Given the description of an element on the screen output the (x, y) to click on. 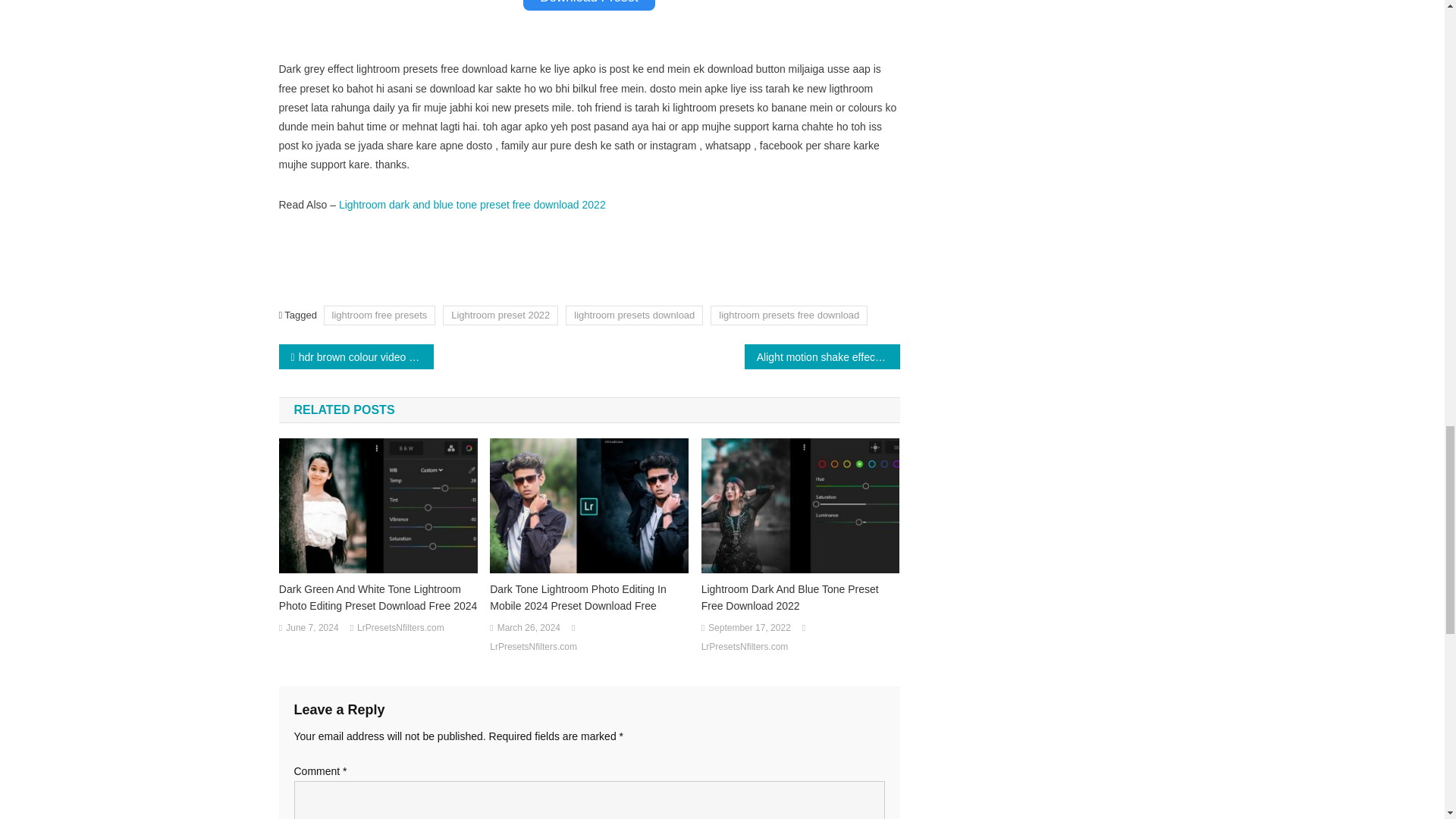
lightroom free presets (379, 314)
Lightroom preset 2022 (499, 314)
LrPresetsNfilters.com (532, 647)
LrPresetsNfilters.com (745, 647)
LrPresetsNfilters.com (400, 628)
Lightroom dark and blue tone preset free download 2022 (472, 204)
March 26, 2024 (528, 628)
June 7, 2024 (311, 628)
Download Preset (587, 5)
Lightroom Dark And Blue Tone Preset Free Download 2022 (800, 597)
lightroom presets download (634, 314)
lightroom presets free download (788, 314)
September 17, 2022 (748, 628)
